Given the description of an element on the screen output the (x, y) to click on. 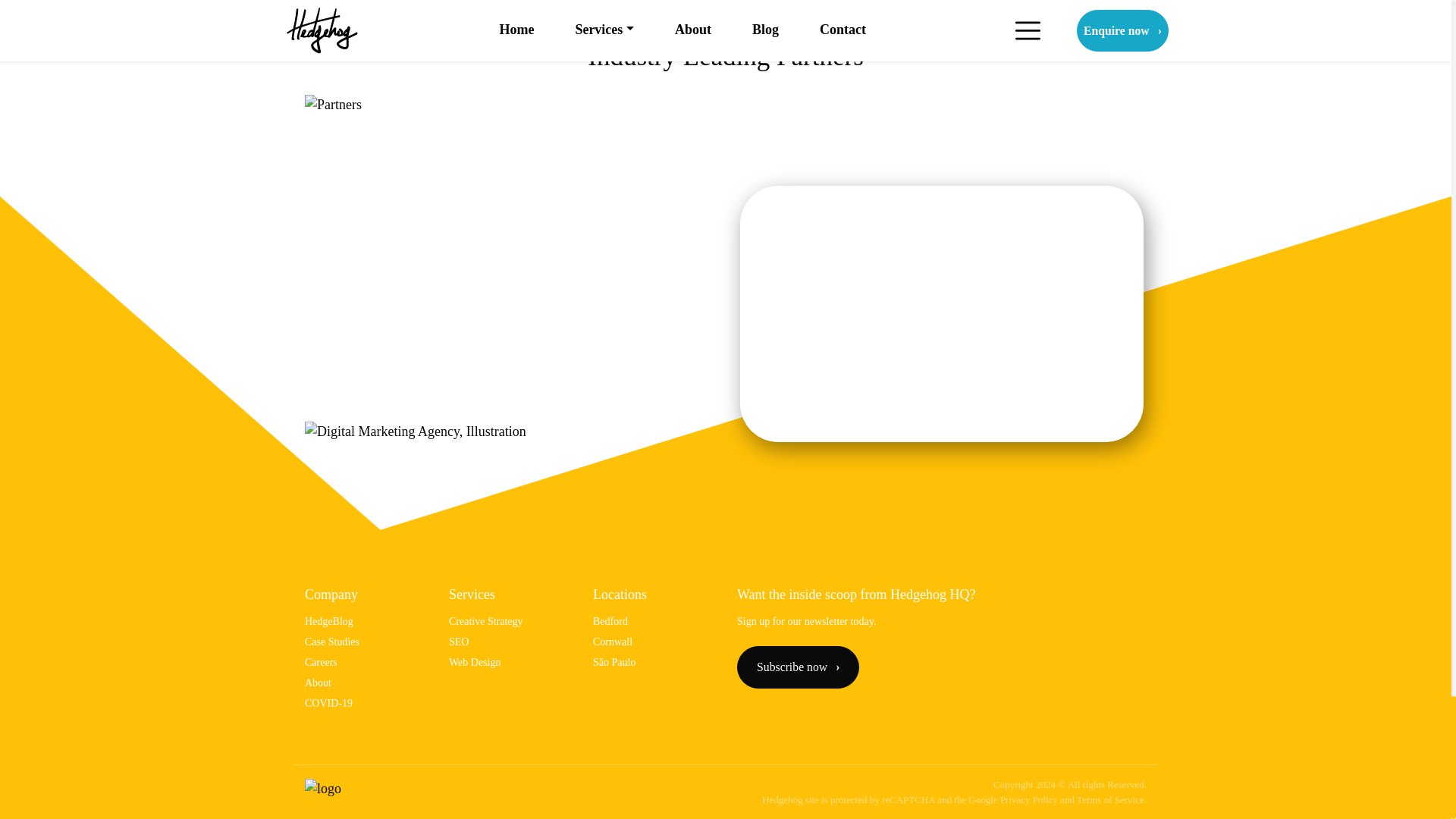
Careers (320, 662)
HedgeBlog (328, 621)
Subscribe now (797, 667)
Subscribe (797, 667)
SEO (458, 641)
Services (471, 594)
Web Design (474, 662)
Cornwall (611, 641)
COVID-19 (328, 703)
Case Studies (331, 641)
